Given the description of an element on the screen output the (x, y) to click on. 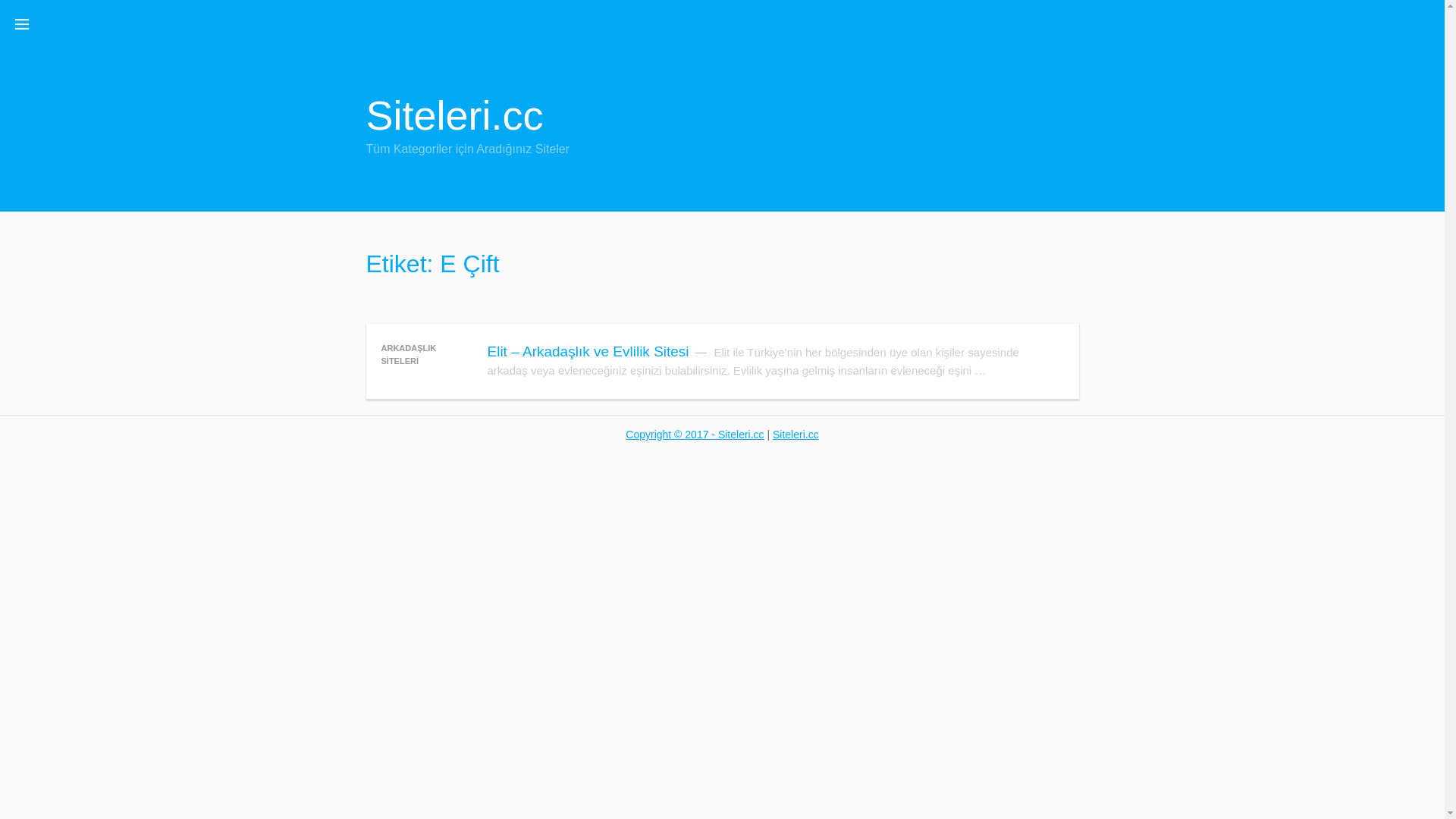
Siteleri.cc Element type: text (453, 115)
Siteleri.cc Element type: text (795, 434)
